Given the description of an element on the screen output the (x, y) to click on. 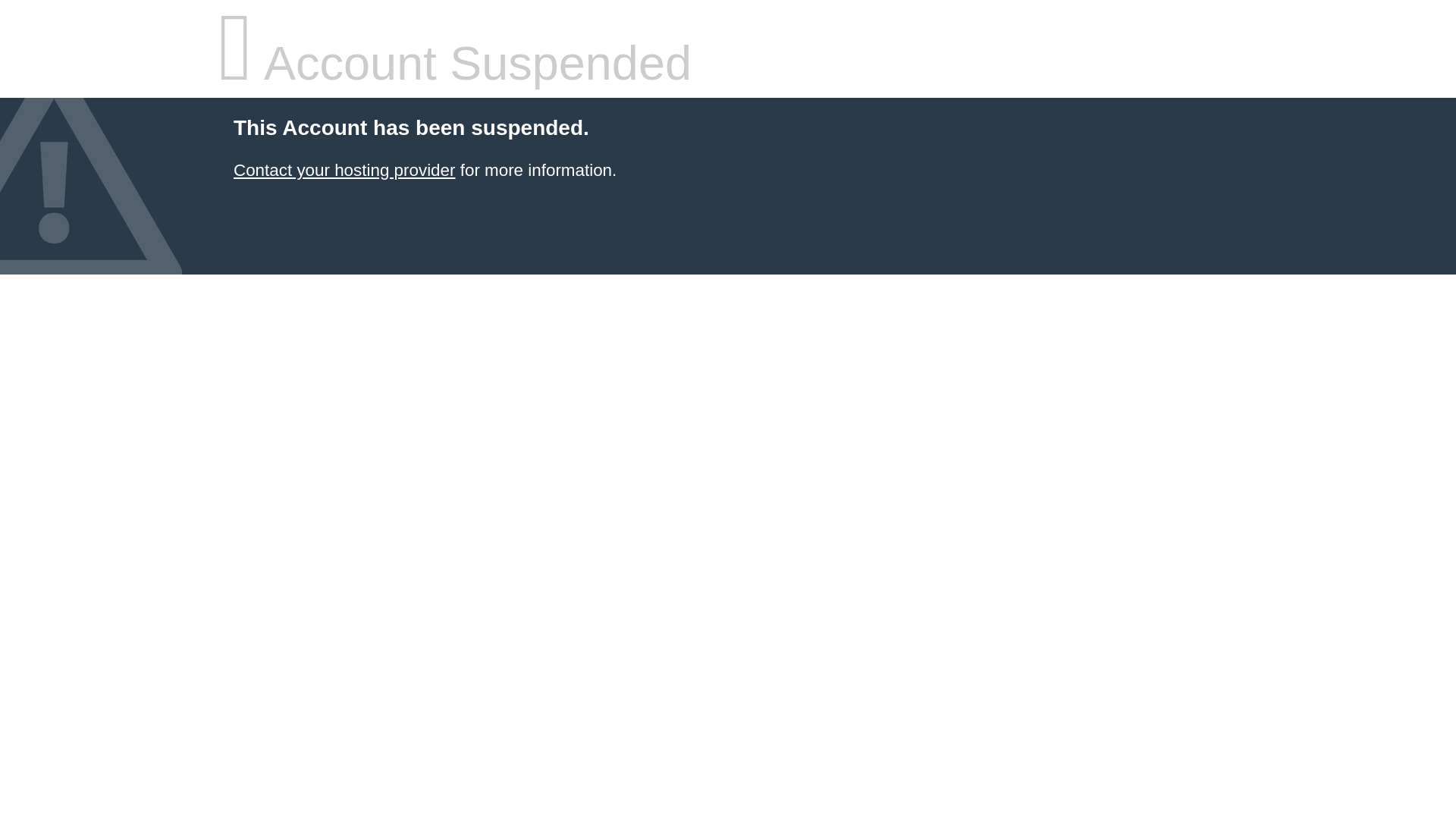
Contact your hosting provider (343, 169)
Squidix (343, 169)
